Given the description of an element on the screen output the (x, y) to click on. 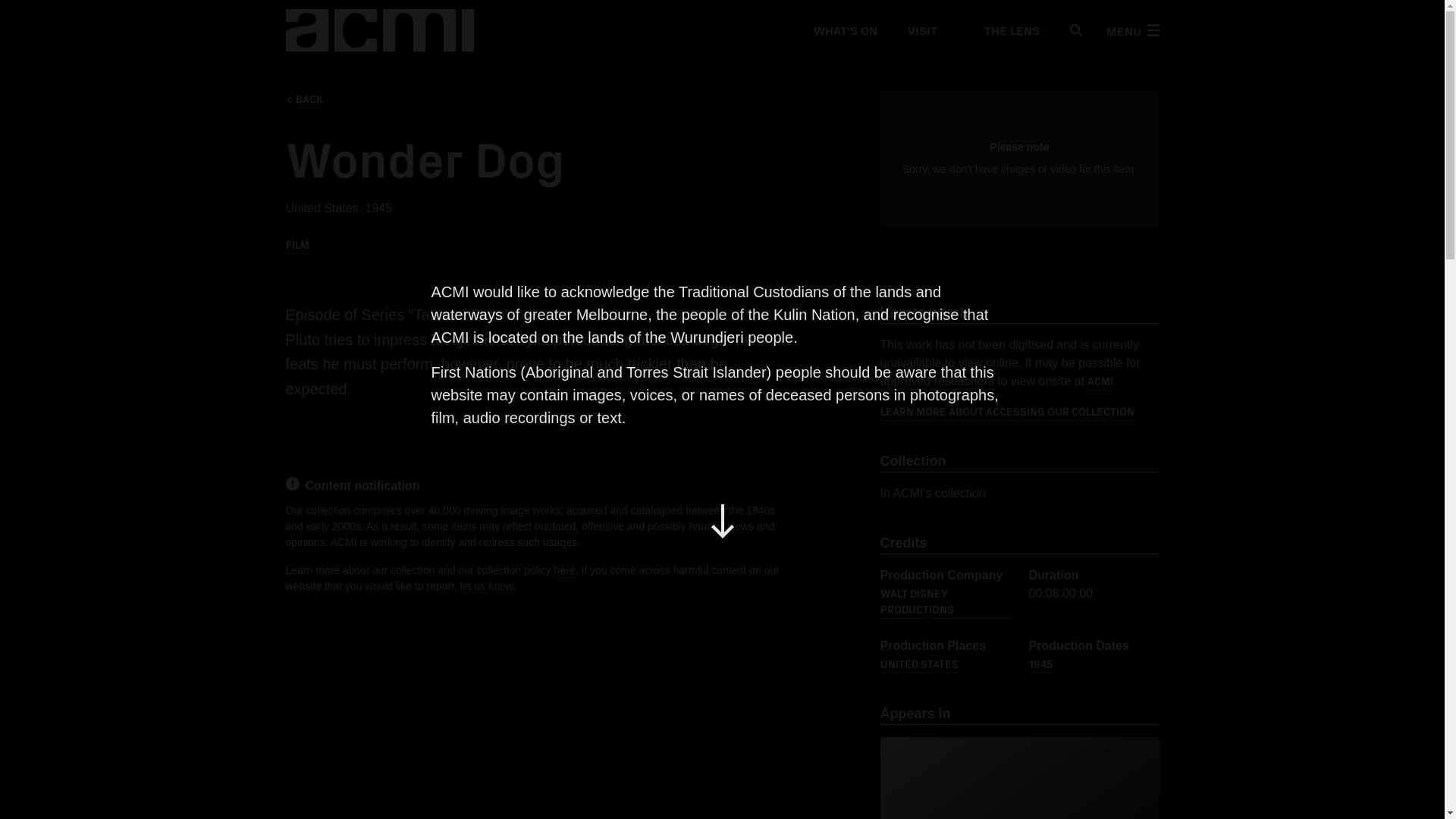
THE LENS (1003, 30)
MENU (1131, 29)
WHAT'S ON (844, 30)
VISIT (921, 30)
